Given the description of an element on the screen output the (x, y) to click on. 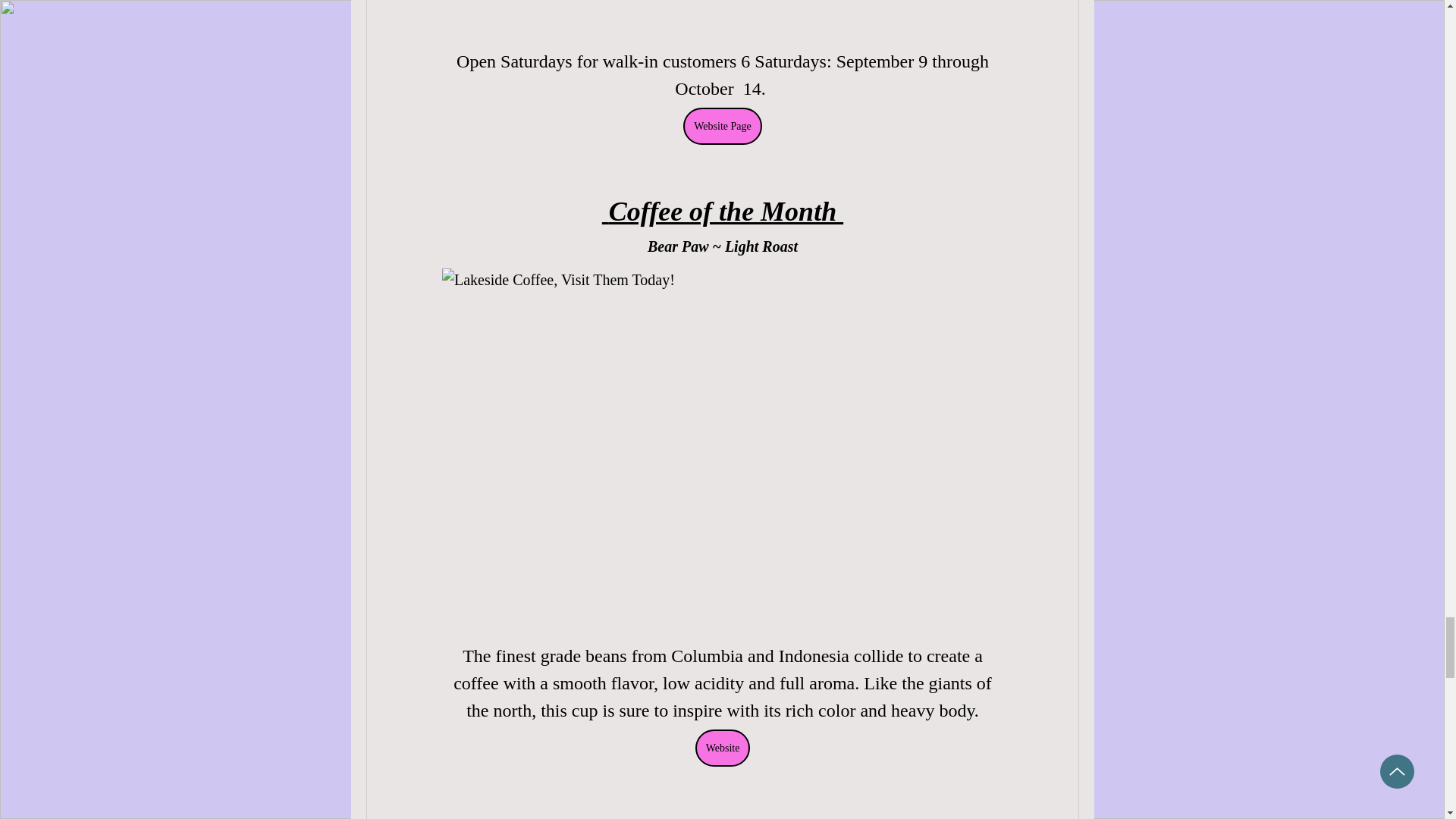
Website Page (721, 125)
Website (721, 747)
